Given the description of an element on the screen output the (x, y) to click on. 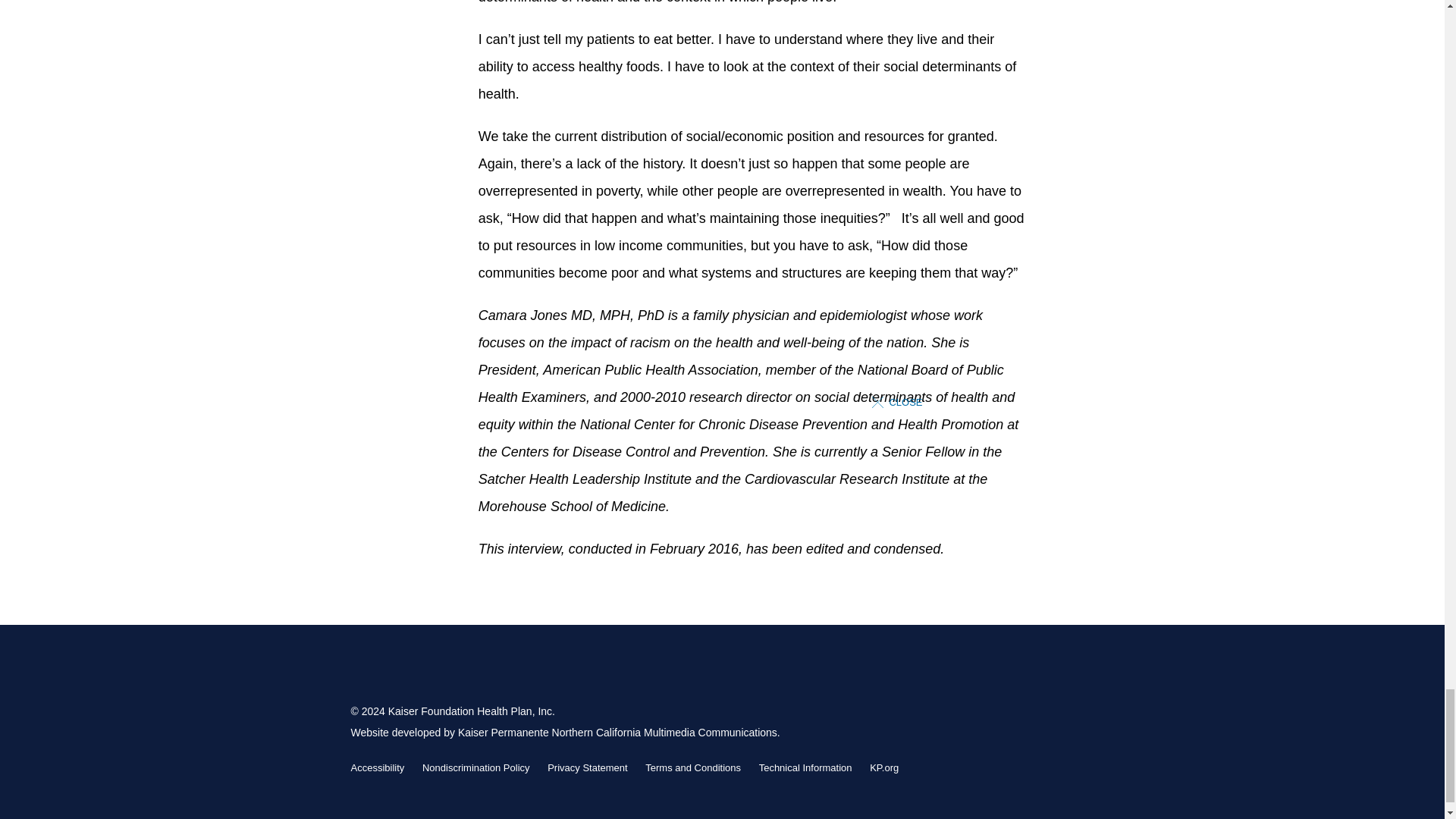
Technical Information (804, 767)
Terms and Conditions (693, 767)
KP.org (883, 767)
Privacy Statement (587, 767)
Accessibility (377, 767)
Nondiscrimination Policy (475, 767)
